Given the description of an element on the screen output the (x, y) to click on. 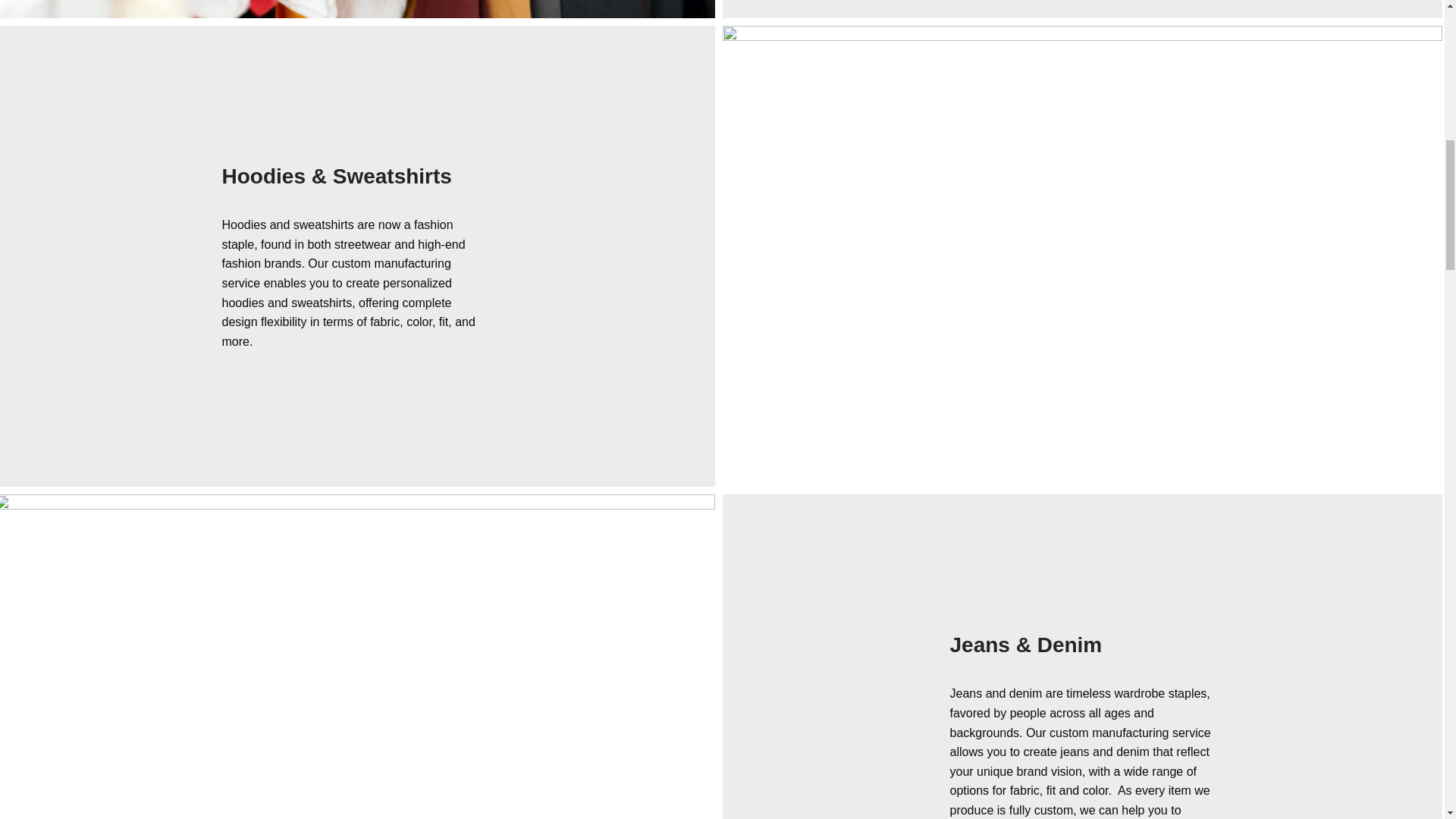
0 (357, 9)
